Given the description of an element on the screen output the (x, y) to click on. 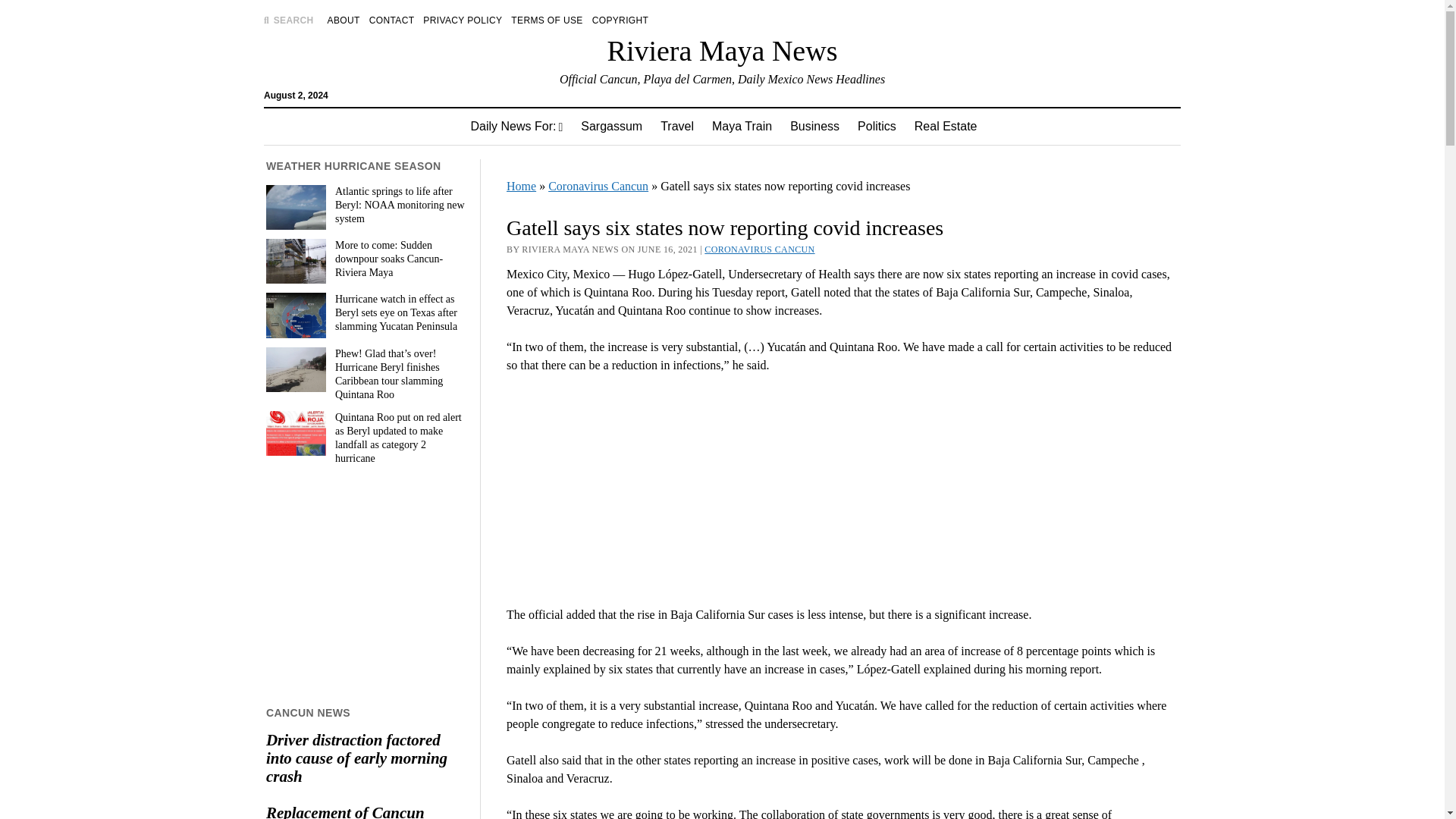
COPYRIGHT (620, 20)
Riviera Maya News (722, 50)
Sargassum (611, 126)
CONTACT (391, 20)
Travel (676, 126)
View all posts in Coronavirus Cancun (758, 249)
PRIVACY POLICY (462, 20)
Maya Train (741, 126)
Daily News For: (516, 126)
SEARCH (288, 20)
Search (945, 129)
ABOUT (343, 20)
Business (814, 126)
TERMS OF USE (546, 20)
